Given the description of an element on the screen output the (x, y) to click on. 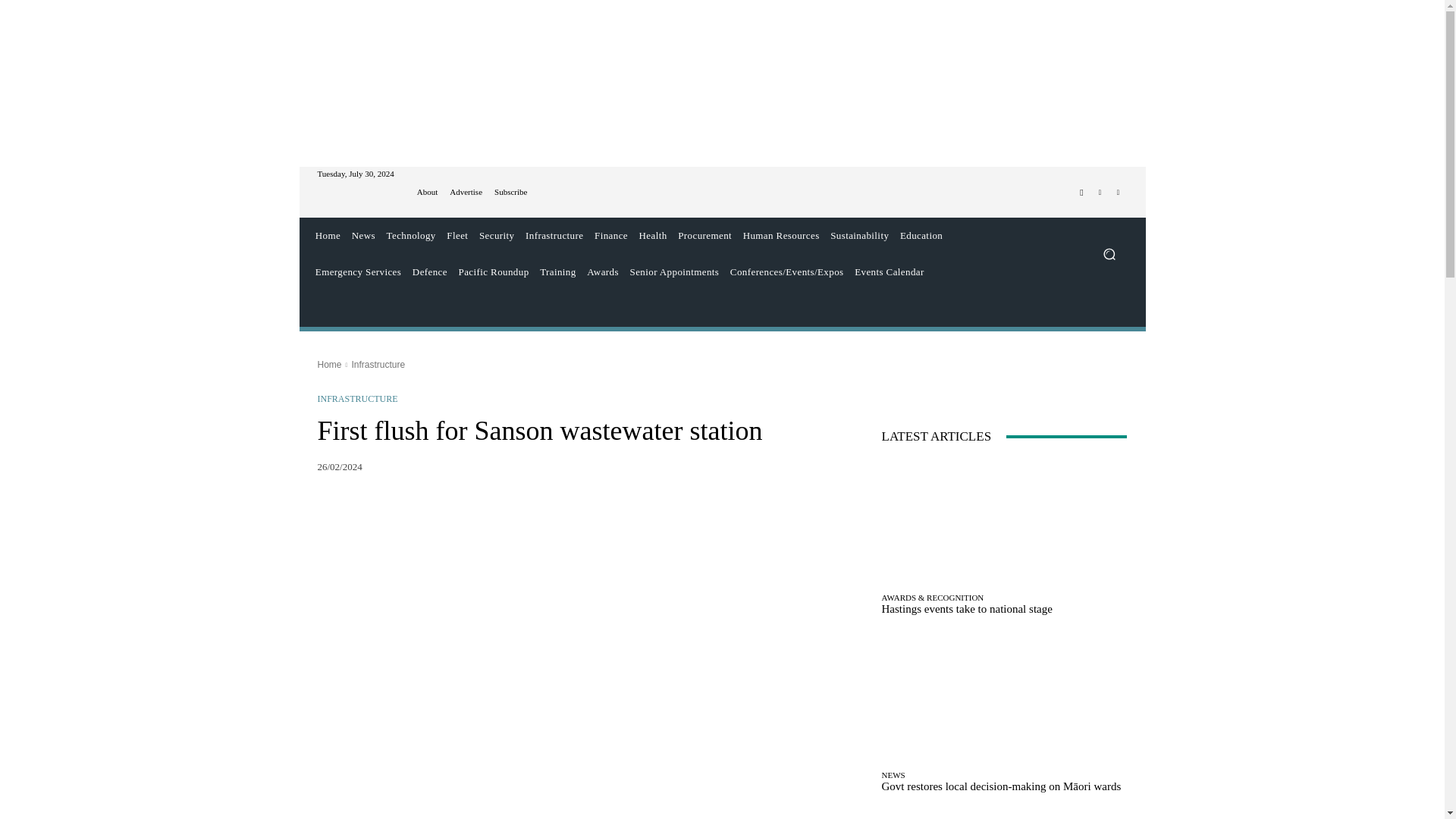
Linkedin (1117, 192)
Procurement (704, 235)
Security (496, 235)
News (363, 235)
Hastings events take to national stage (1003, 522)
Facebook (1080, 192)
Advertise (465, 192)
About (427, 192)
Health (652, 235)
Twitter (1099, 192)
Fleet (457, 235)
Human Resources (780, 235)
Finance (611, 235)
Sustainability (860, 235)
Subscribe (511, 192)
